Given the description of an element on the screen output the (x, y) to click on. 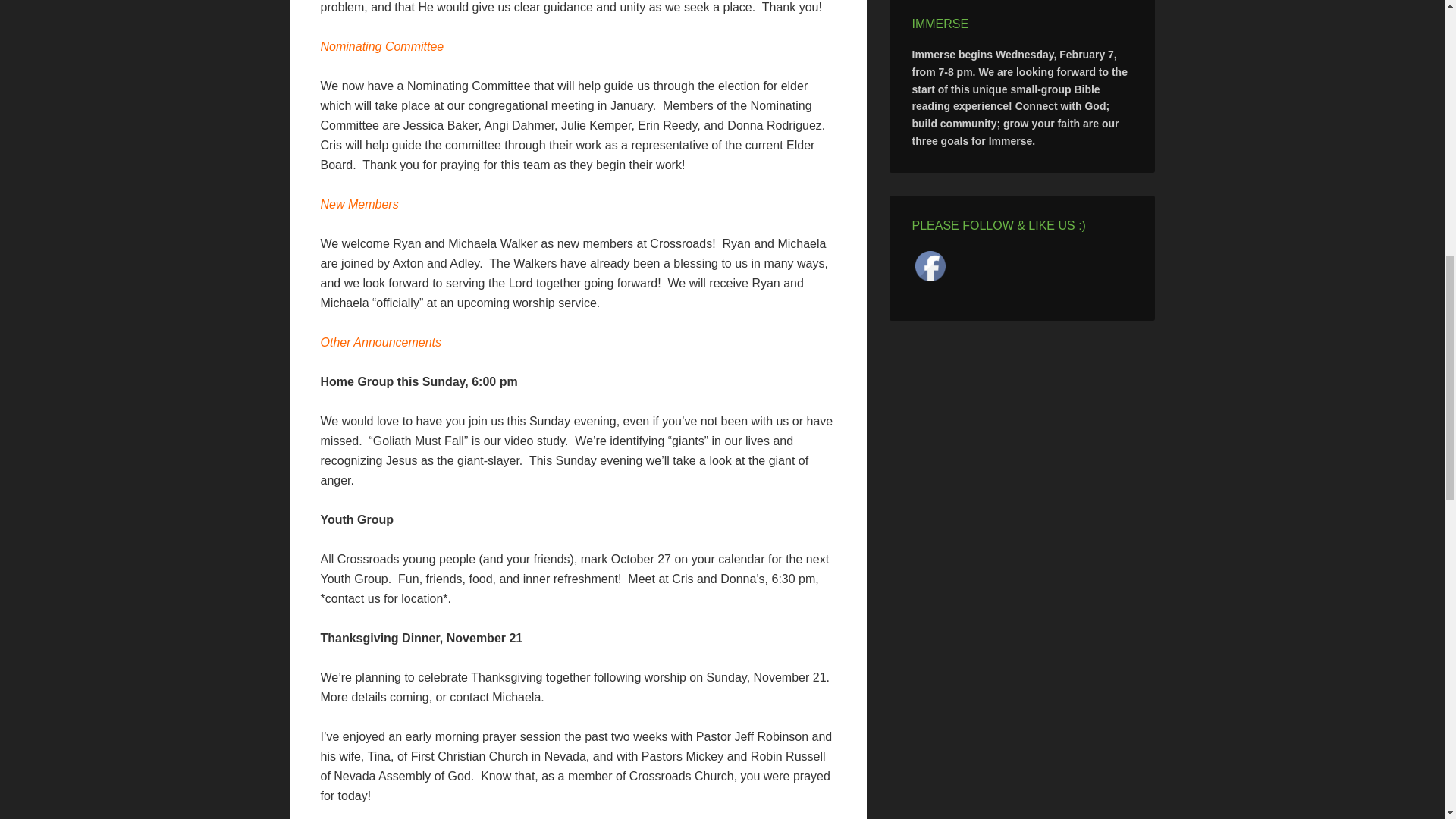
Facebook (929, 265)
